Given the description of an element on the screen output the (x, y) to click on. 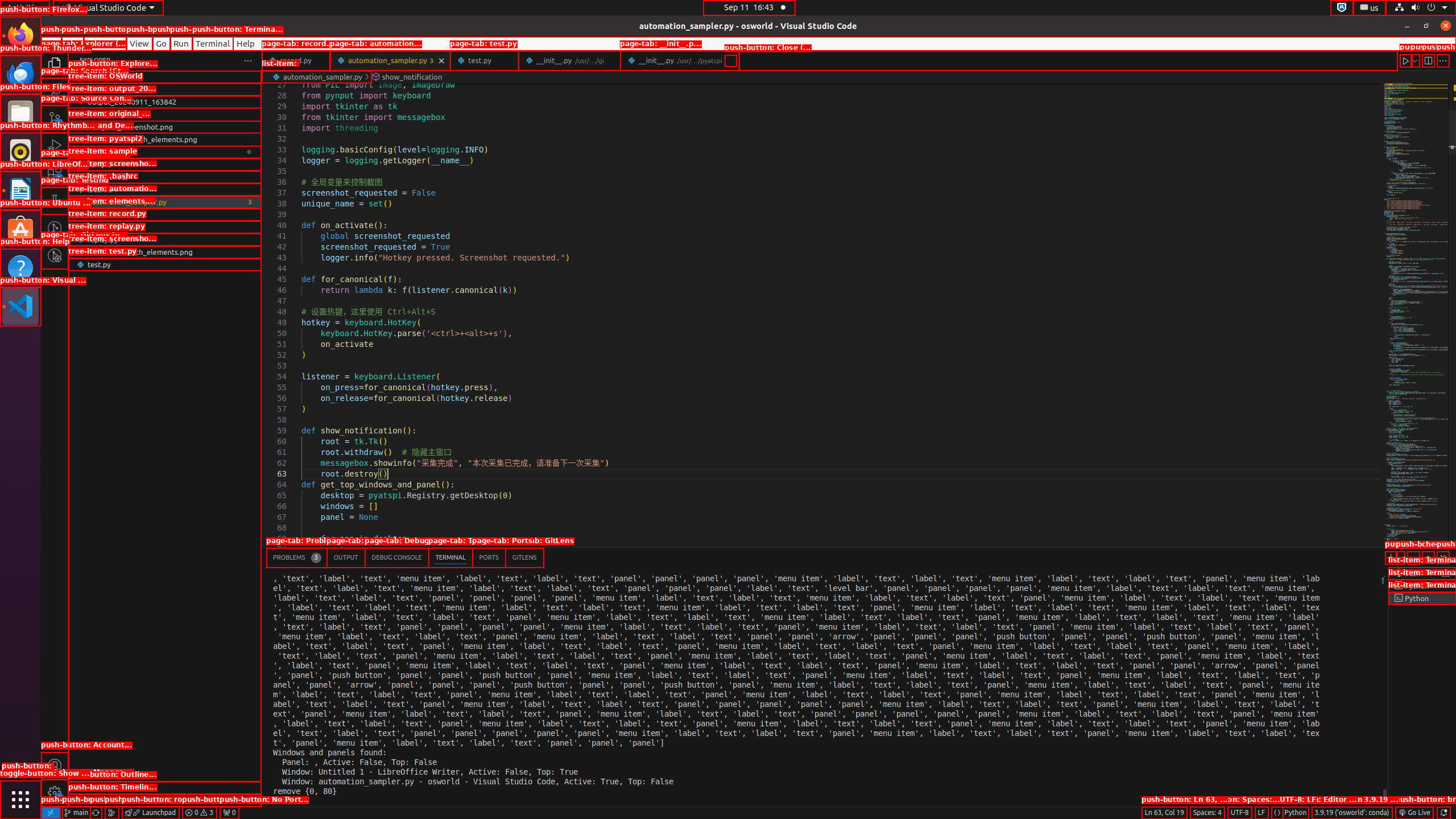
screenshots Element type: tree-item (164, 176)
Terminal 1 bash Element type: list-item (1422, 573)
Firefox Web Browser Element type: push-button (20, 35)
remote Element type: push-button (50, 812)
Close (Ctrl+W) Element type: push-button (730, 60)
